Given the description of an element on the screen output the (x, y) to click on. 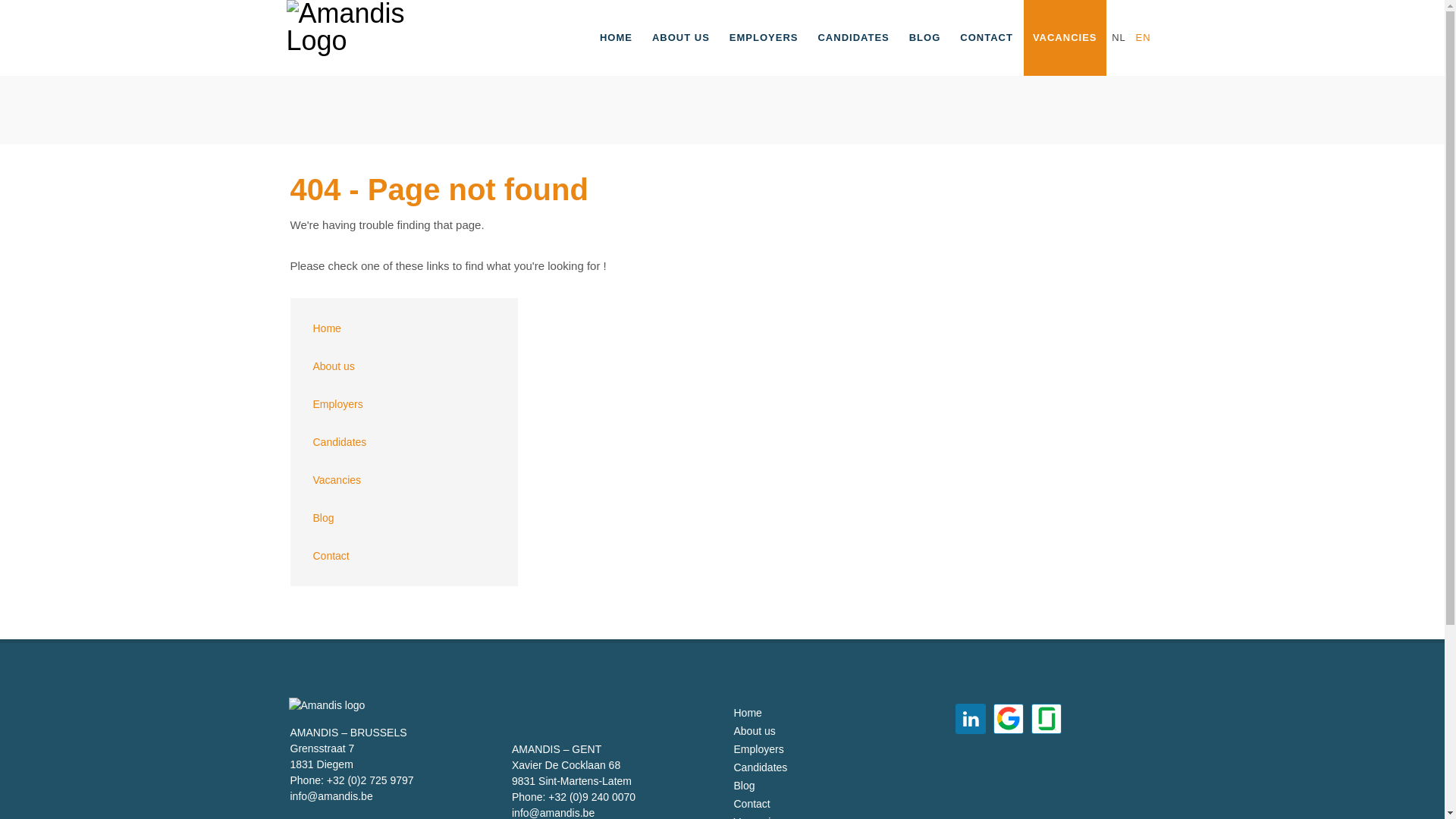
Vacancies Element type: text (403, 479)
Blog Element type: text (403, 517)
NL Element type: text (1118, 37)
CONTACT Element type: text (986, 37)
About us Element type: text (760, 730)
Contact Element type: text (403, 555)
ABOUT US Element type: text (680, 37)
VACANCIES Element type: text (1064, 37)
Blog Element type: text (760, 785)
Candidates Element type: text (403, 442)
BLOG Element type: text (925, 37)
Employers Element type: text (760, 749)
EMPLOYERS Element type: text (763, 37)
CANDIDATES Element type: text (852, 37)
Home Element type: text (403, 328)
Employers Element type: text (403, 404)
Home Element type: text (760, 712)
HOME Element type: text (615, 37)
info@amandis.be Element type: text (330, 796)
EN Element type: text (1142, 37)
About us Element type: text (403, 366)
Contact Element type: text (760, 803)
Candidates Element type: text (760, 767)
